Given the description of an element on the screen output the (x, y) to click on. 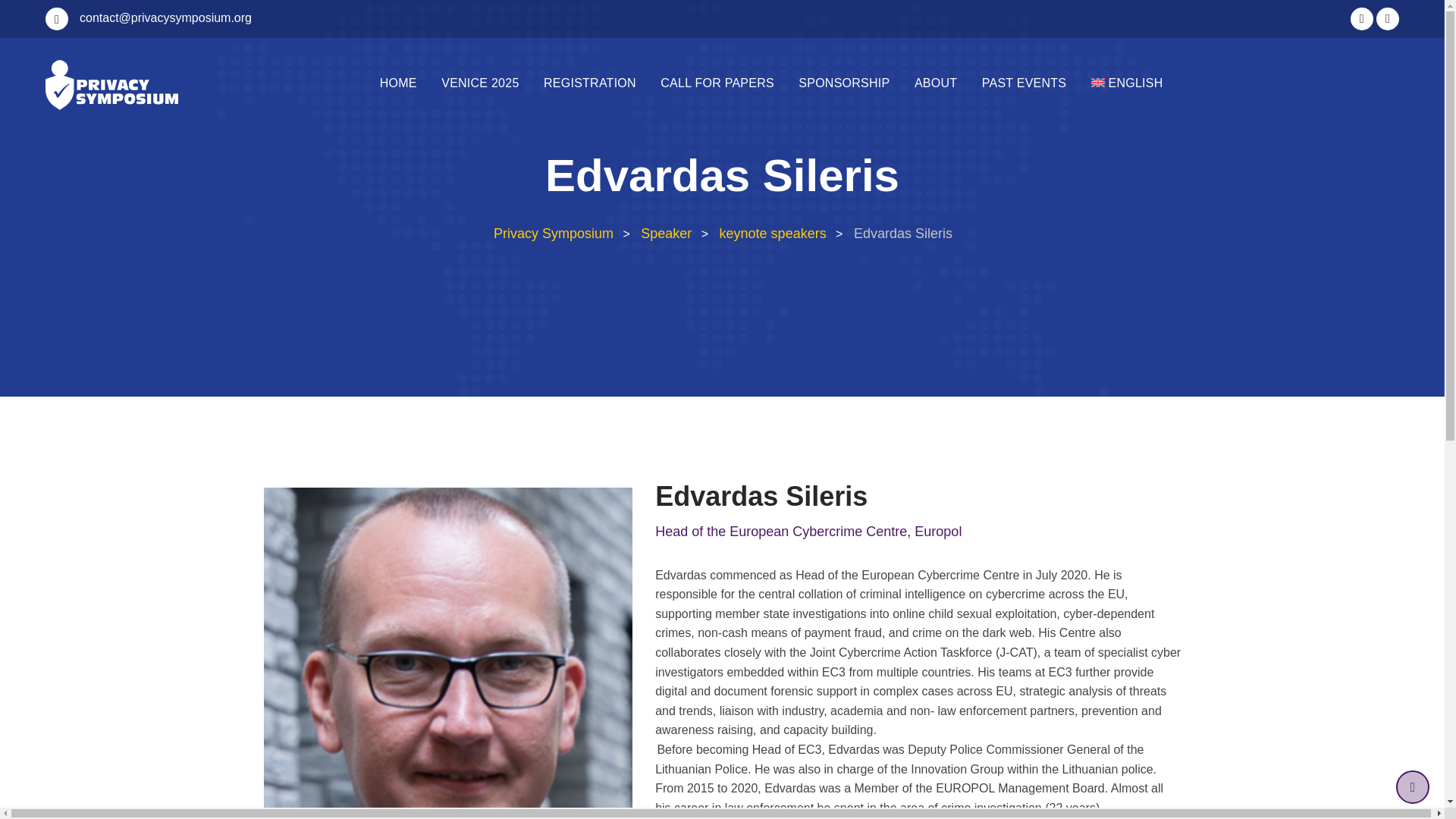
ABOUT (936, 83)
REGISTRATION (589, 83)
VENICE 2025 (479, 83)
SPONSORSHIP (843, 83)
English (1126, 83)
Go to the keynote speakers Speaker Category archives. (772, 233)
Go to Privacy Symposium. (552, 233)
PAST EVENTS (1024, 83)
CALL FOR PAPERS (716, 83)
Go to Speaker. (665, 233)
